Given the description of an element on the screen output the (x, y) to click on. 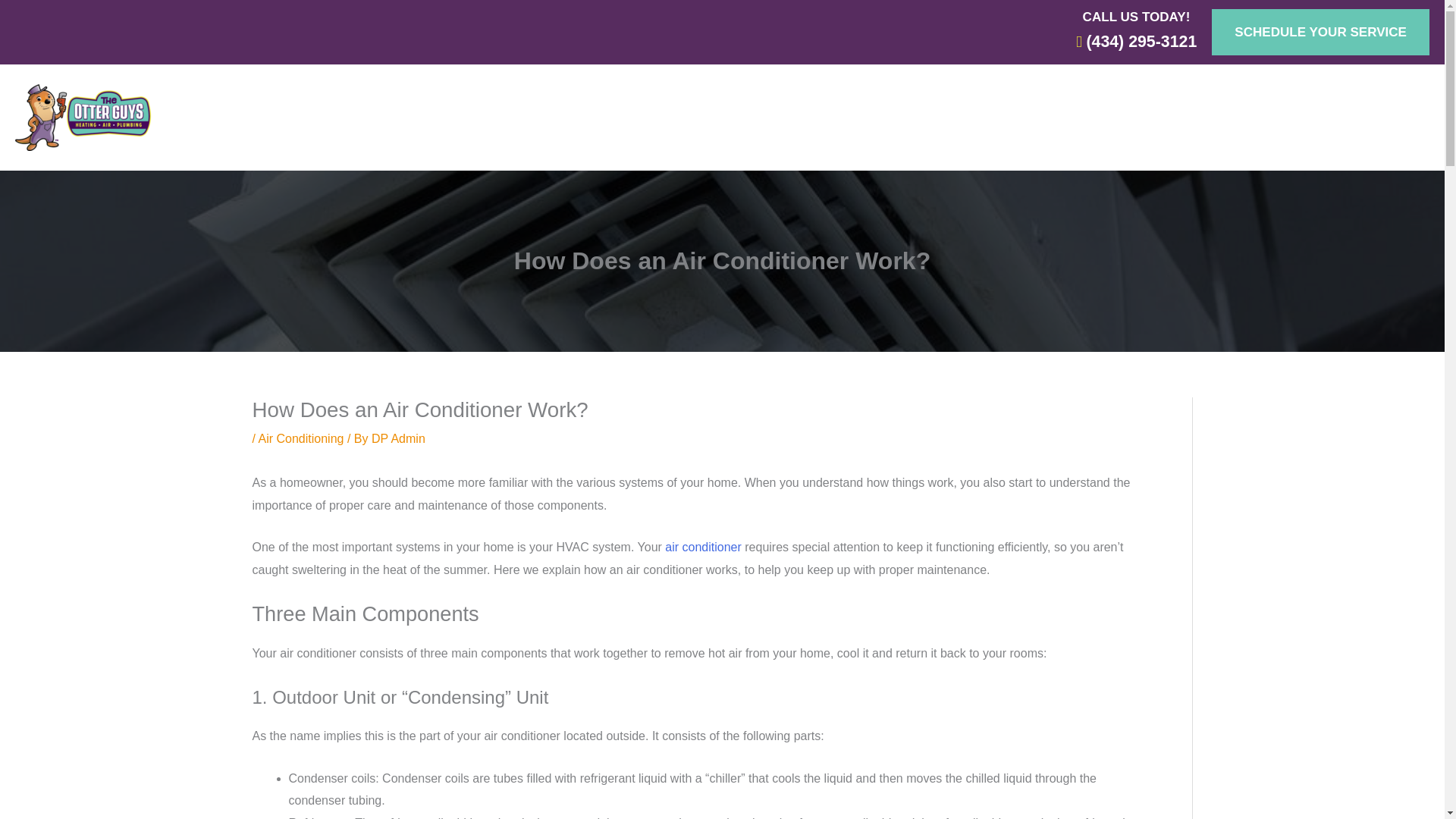
SCHEDULE YOUR SERVICE (1320, 32)
HEATING (455, 117)
PLUMBING (644, 117)
CONTACT US (938, 117)
BUY FILTERS (748, 117)
ABOUT (841, 117)
View all posts by DP Admin (398, 438)
SERVICES (1046, 117)
COOLING (547, 117)
HOME (379, 117)
